Given the description of an element on the screen output the (x, y) to click on. 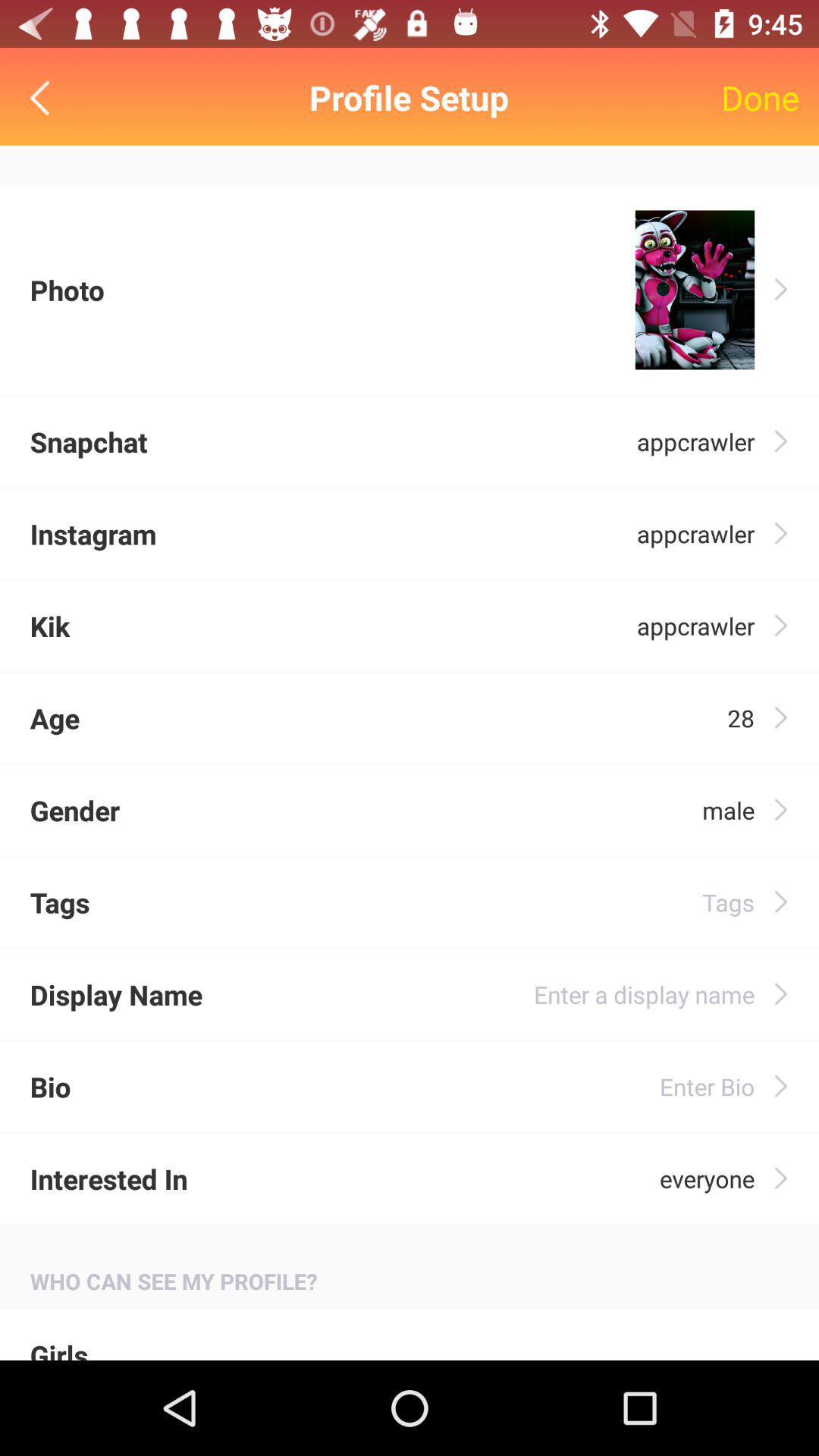
go back (43, 97)
